Given the description of an element on the screen output the (x, y) to click on. 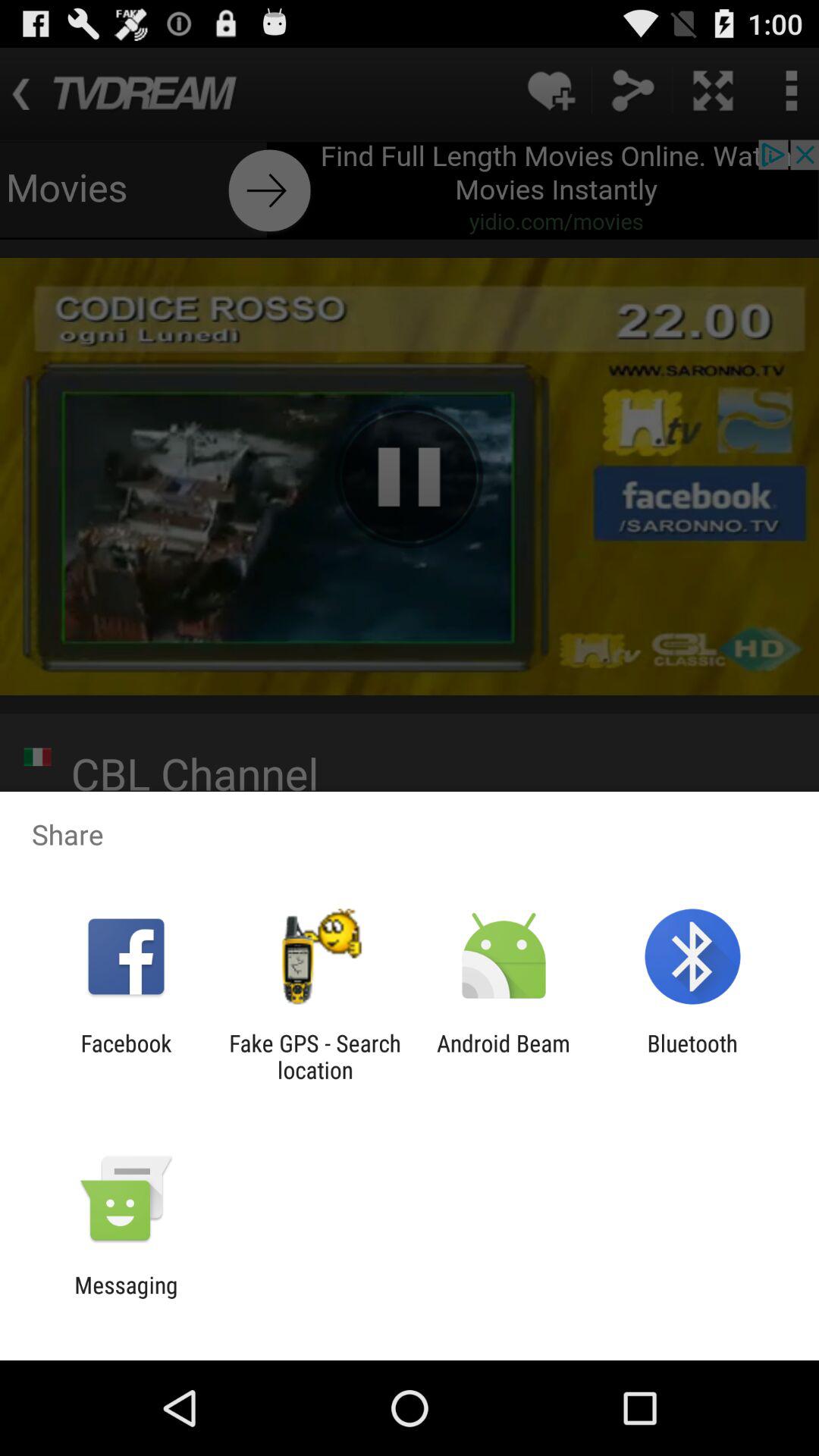
flip until the bluetooth (692, 1056)
